Given the description of an element on the screen output the (x, y) to click on. 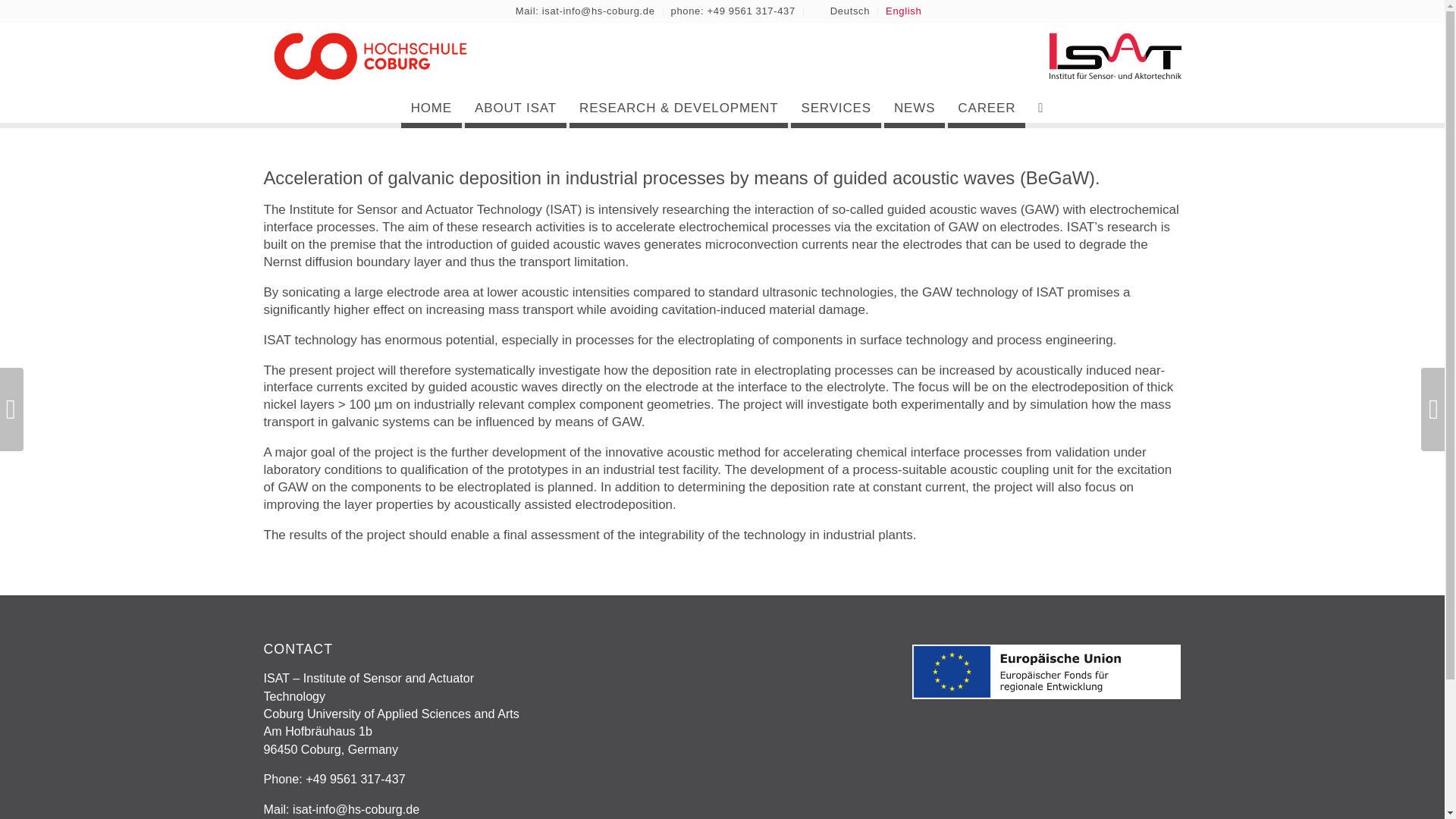
NEWS (913, 108)
English (903, 11)
HOME (431, 108)
SERVICES (835, 108)
CAREER (986, 108)
Deutsch (849, 11)
ABOUT ISAT (515, 108)
